Given the description of an element on the screen output the (x, y) to click on. 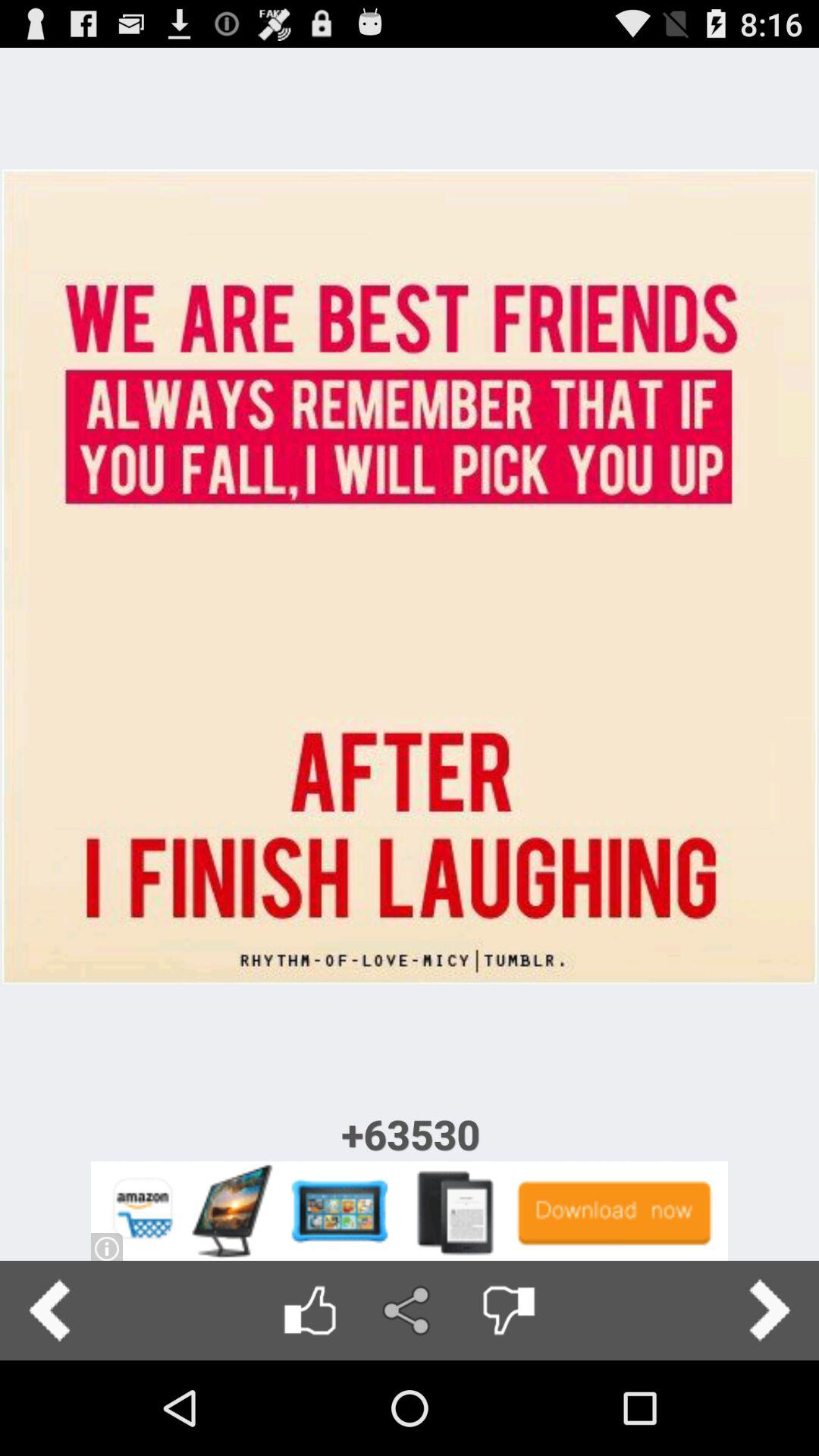
go to next page (769, 1310)
